Given the description of an element on the screen output the (x, y) to click on. 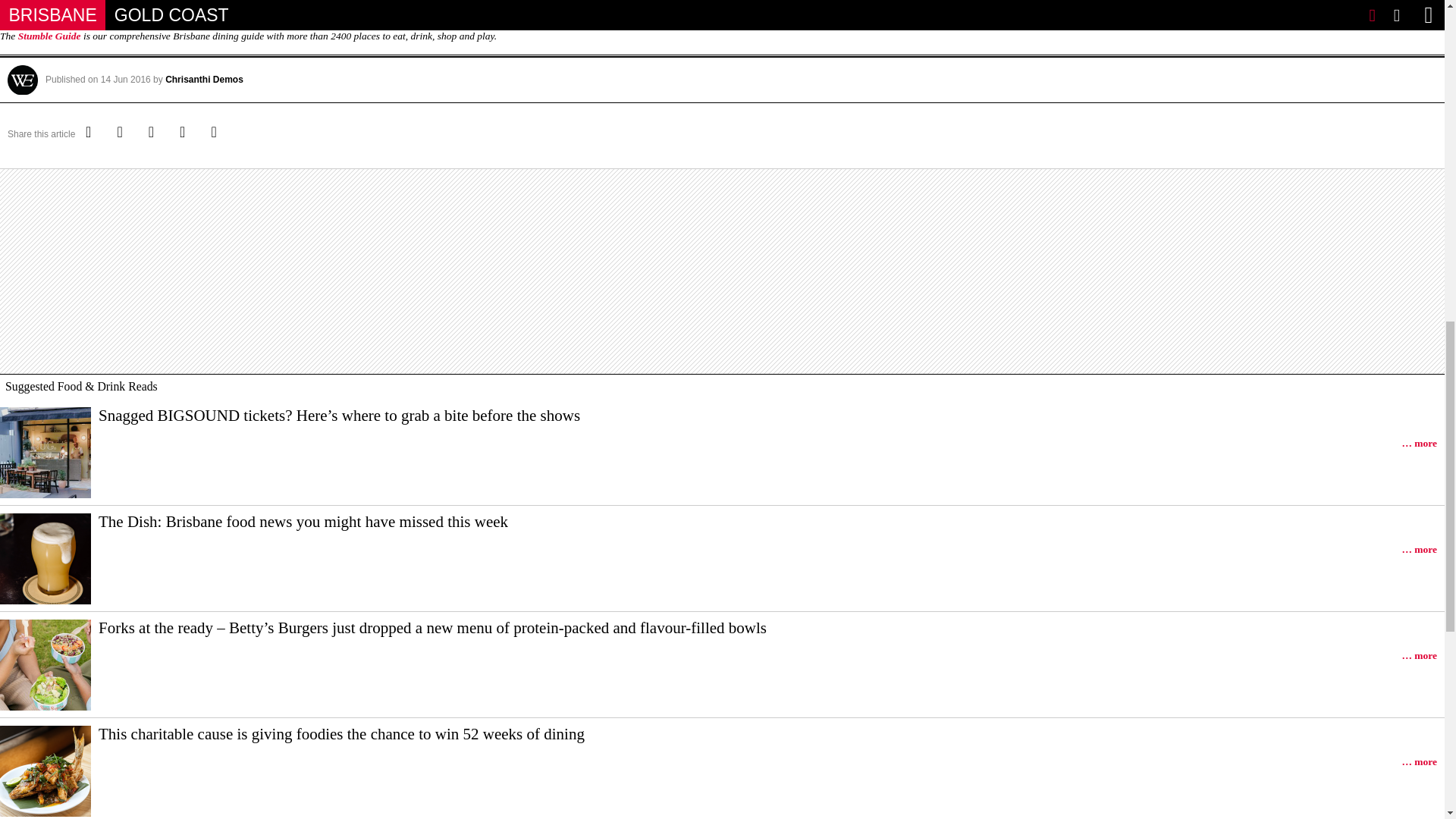
Share on Facebook (123, 133)
Share on Pinterest (153, 133)
Share article... (217, 133)
Share on Twitter (92, 133)
3rd party ad content (721, 271)
The Stumble Guide (49, 35)
Email this (185, 133)
